Given the description of an element on the screen output the (x, y) to click on. 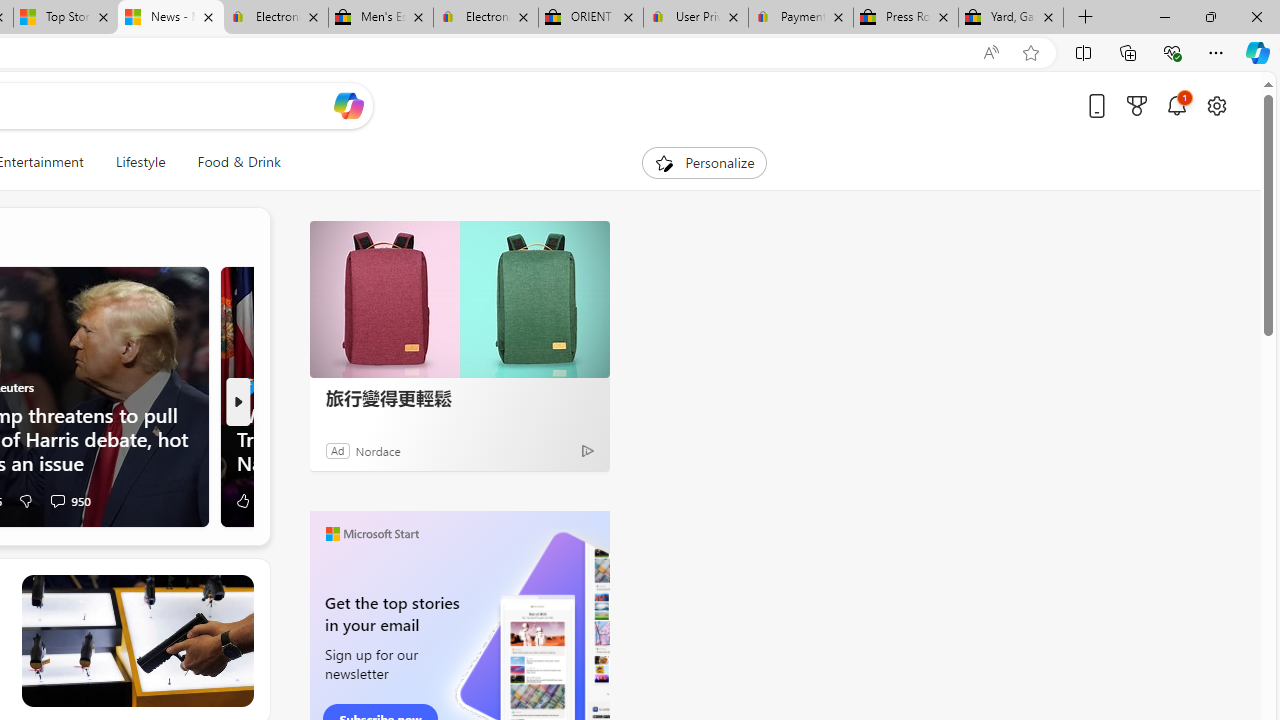
Nordace (377, 450)
To get missing image descriptions, open the context menu. (664, 162)
Notifications (1176, 105)
Press Room - eBay Inc. (905, 17)
Ad (338, 450)
Personalize (703, 162)
Payments Terms of Use | eBay.com (800, 17)
View comments 950 Comment (57, 500)
Lifestyle (140, 162)
Ad Choice (587, 449)
Open Copilot (347, 105)
